Given the description of an element on the screen output the (x, y) to click on. 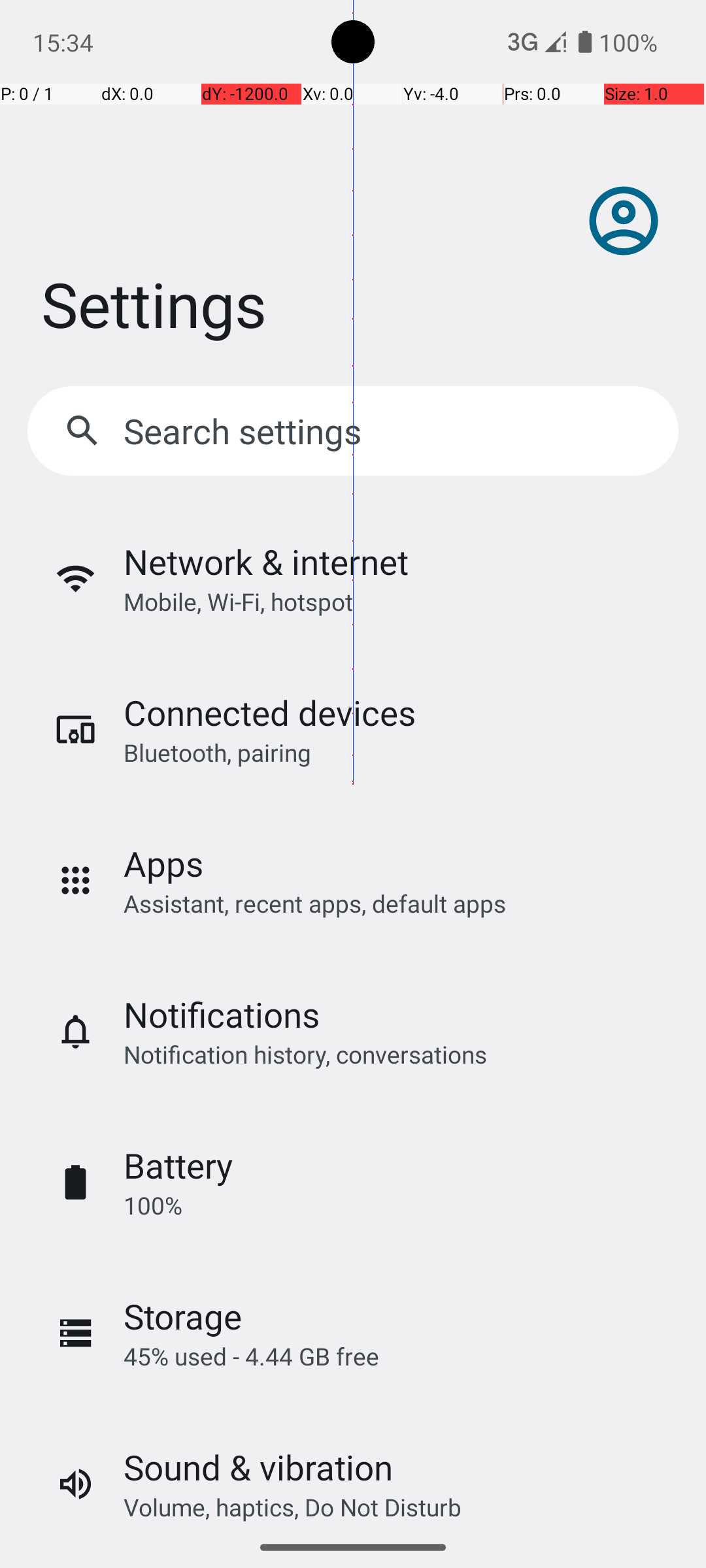
45% used - 4.44 GB free Element type: android.widget.TextView (251, 1355)
